Given the description of an element on the screen output the (x, y) to click on. 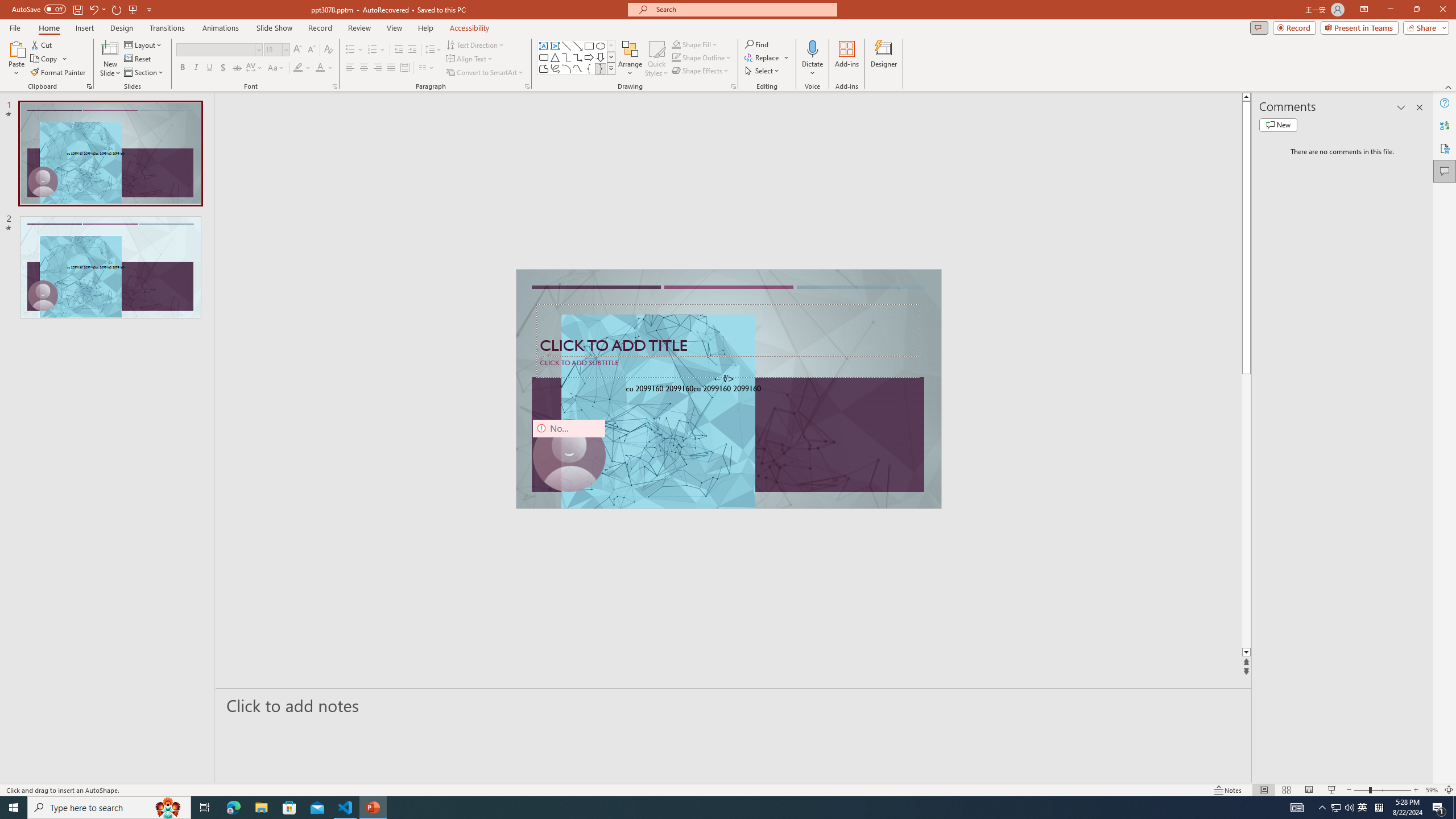
TextBox 7 (723, 378)
Arrow: Right (589, 57)
Paste (16, 58)
Font... (334, 85)
Italic (195, 67)
Open (285, 49)
Decrease Indent (398, 49)
Center (363, 67)
Line Spacing (433, 49)
Font Color Red (320, 67)
Left Brace (589, 68)
